Given the description of an element on the screen output the (x, y) to click on. 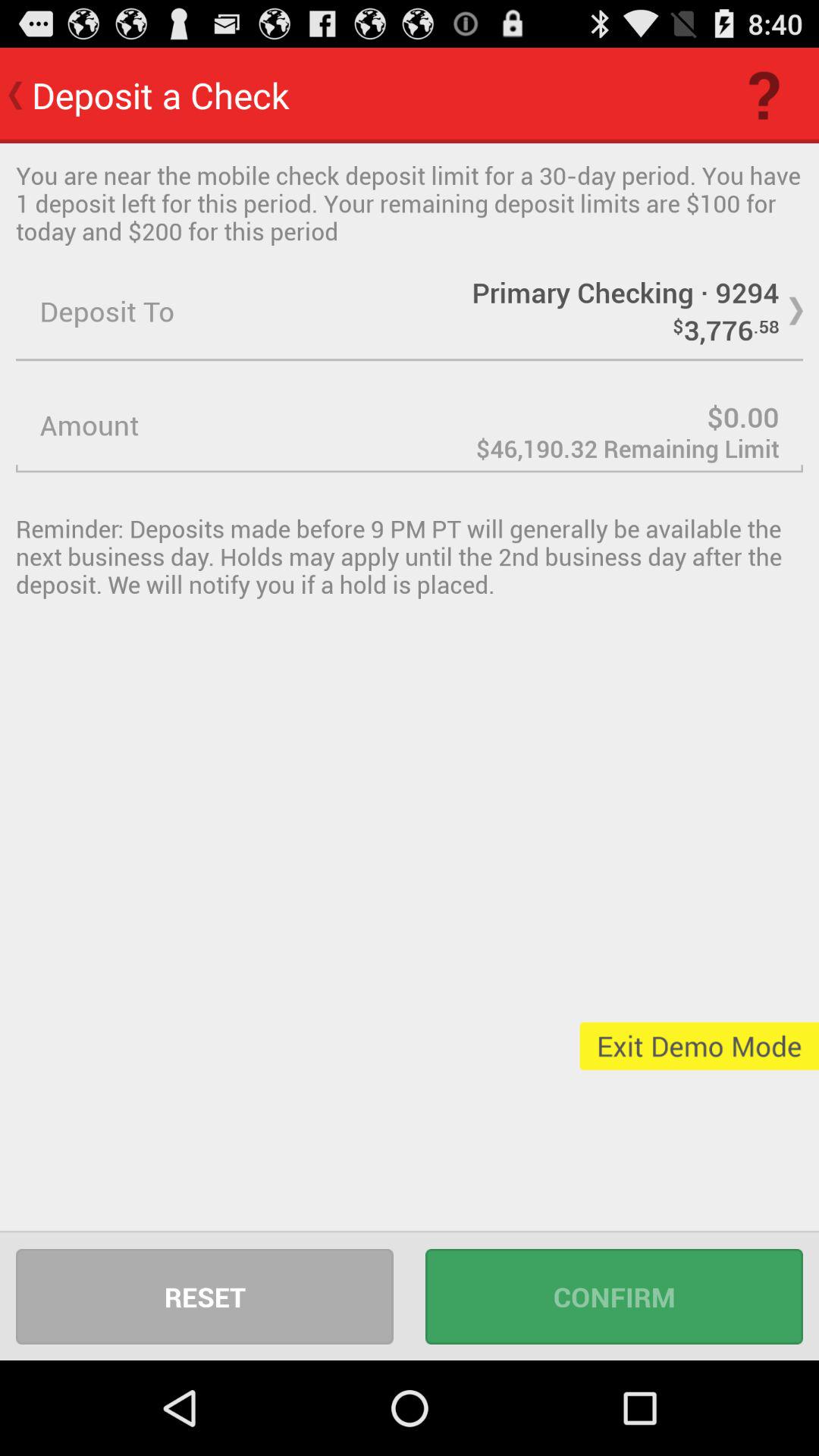
deposit checks (409, 424)
